Given the description of an element on the screen output the (x, y) to click on. 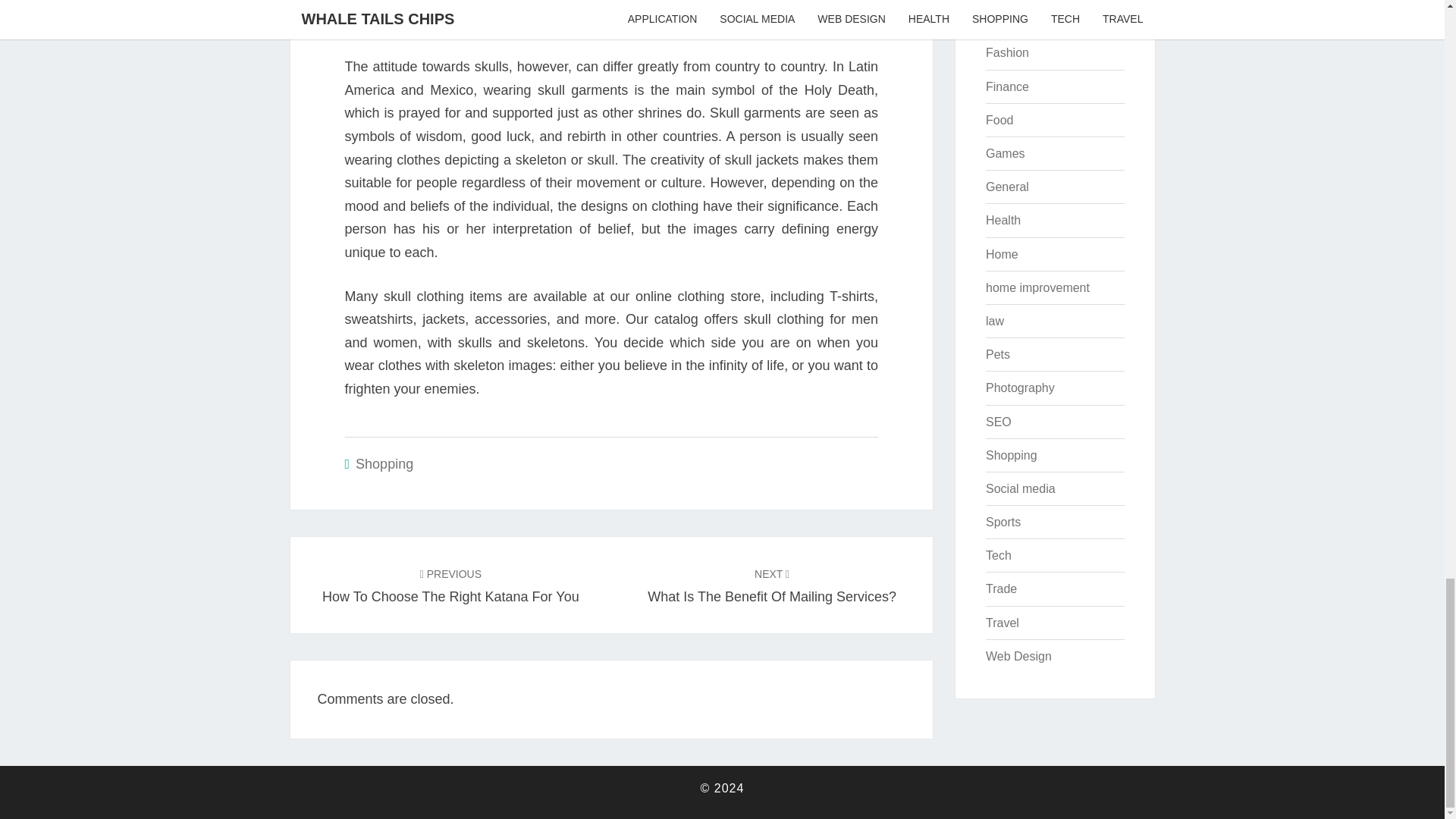
General (1007, 186)
Health (771, 584)
Games (1002, 219)
Entertainment (450, 584)
home improvement (1005, 153)
Shopping (1023, 19)
Food (1037, 287)
Pets (384, 463)
law (999, 119)
Home (997, 354)
Finance (994, 320)
Fashion (1001, 254)
